Given the description of an element on the screen output the (x, y) to click on. 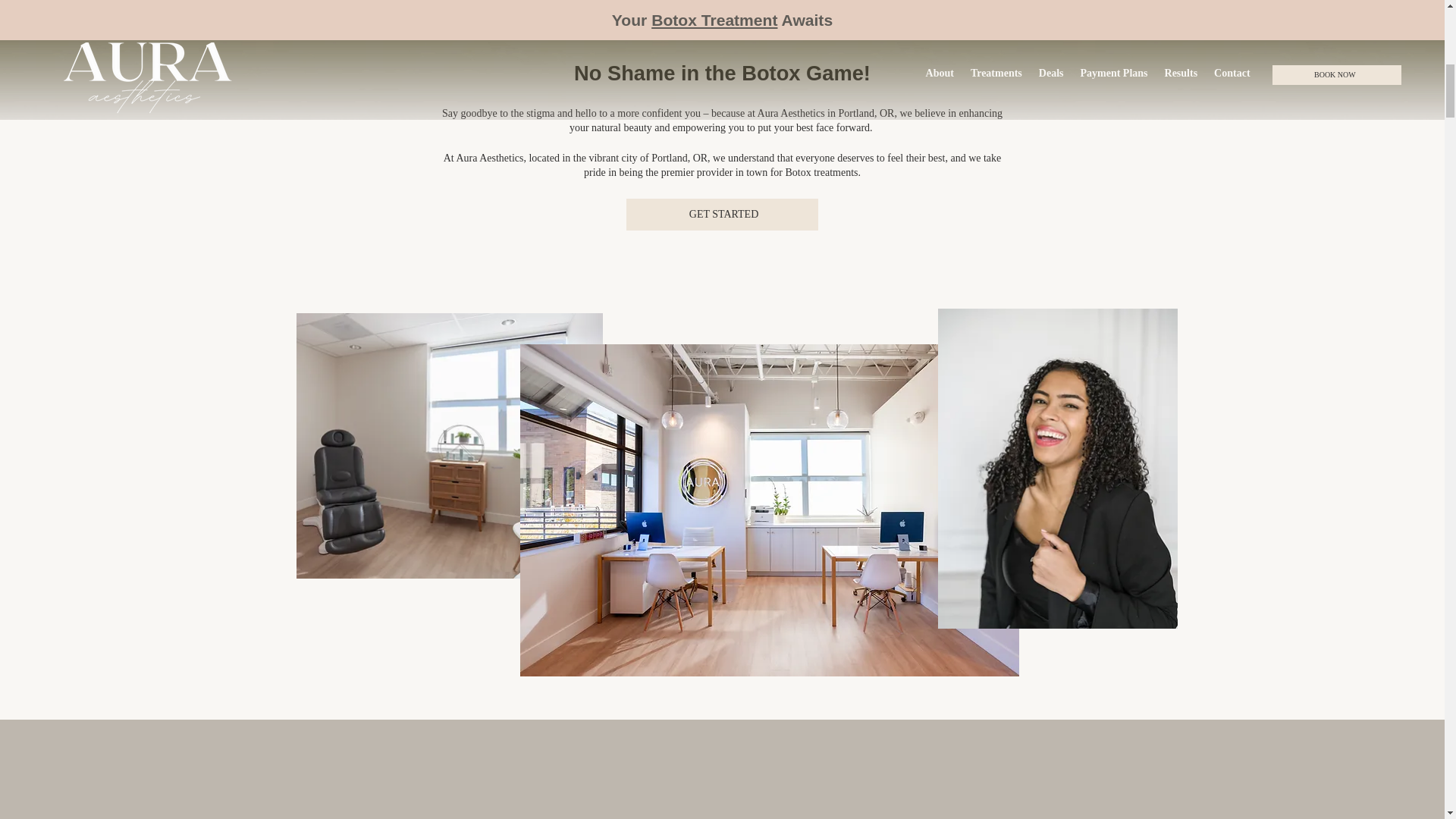
GET STARTED (722, 214)
